Given the description of an element on the screen output the (x, y) to click on. 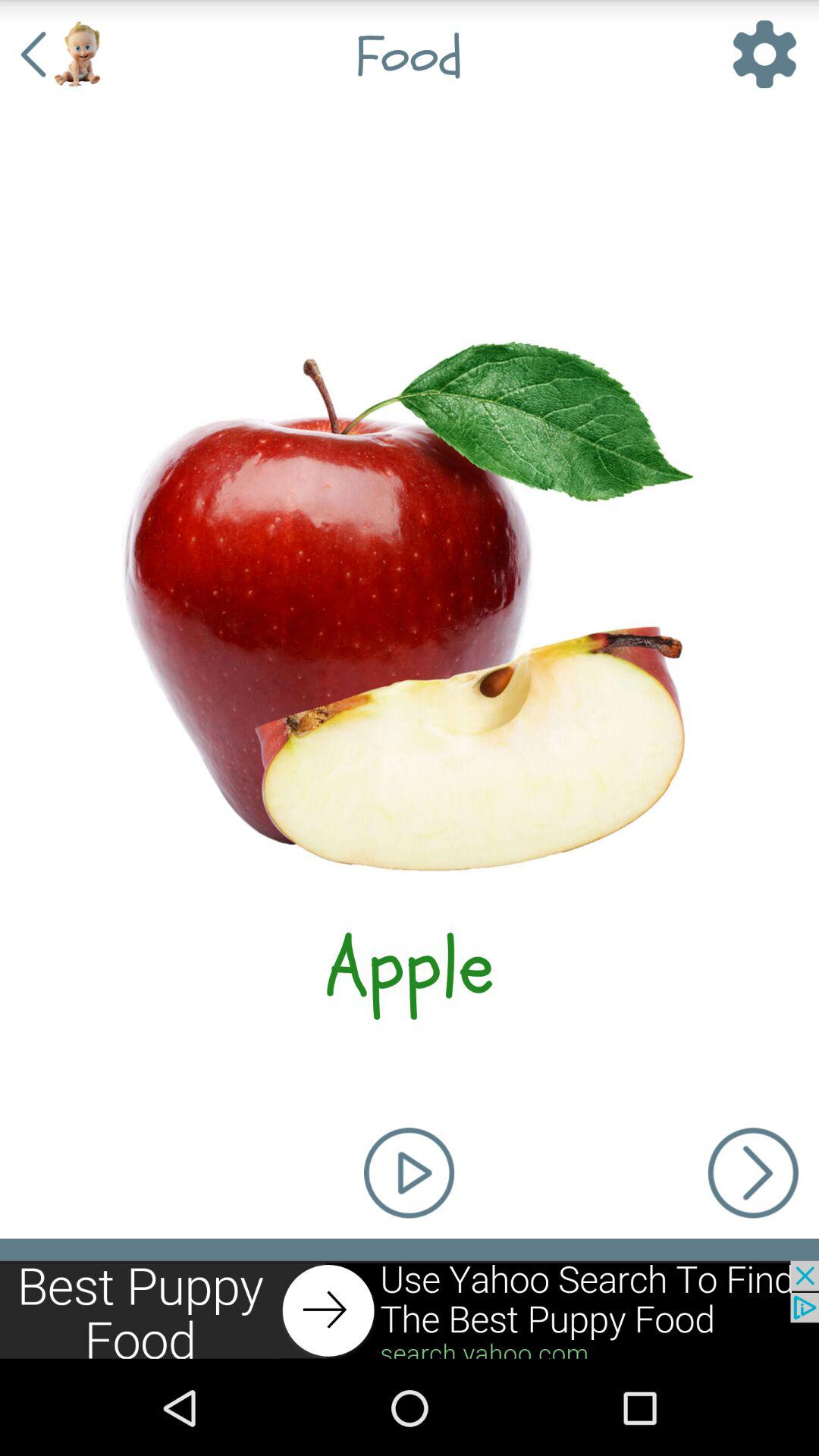
go to next (409, 1310)
